Given the description of an element on the screen output the (x, y) to click on. 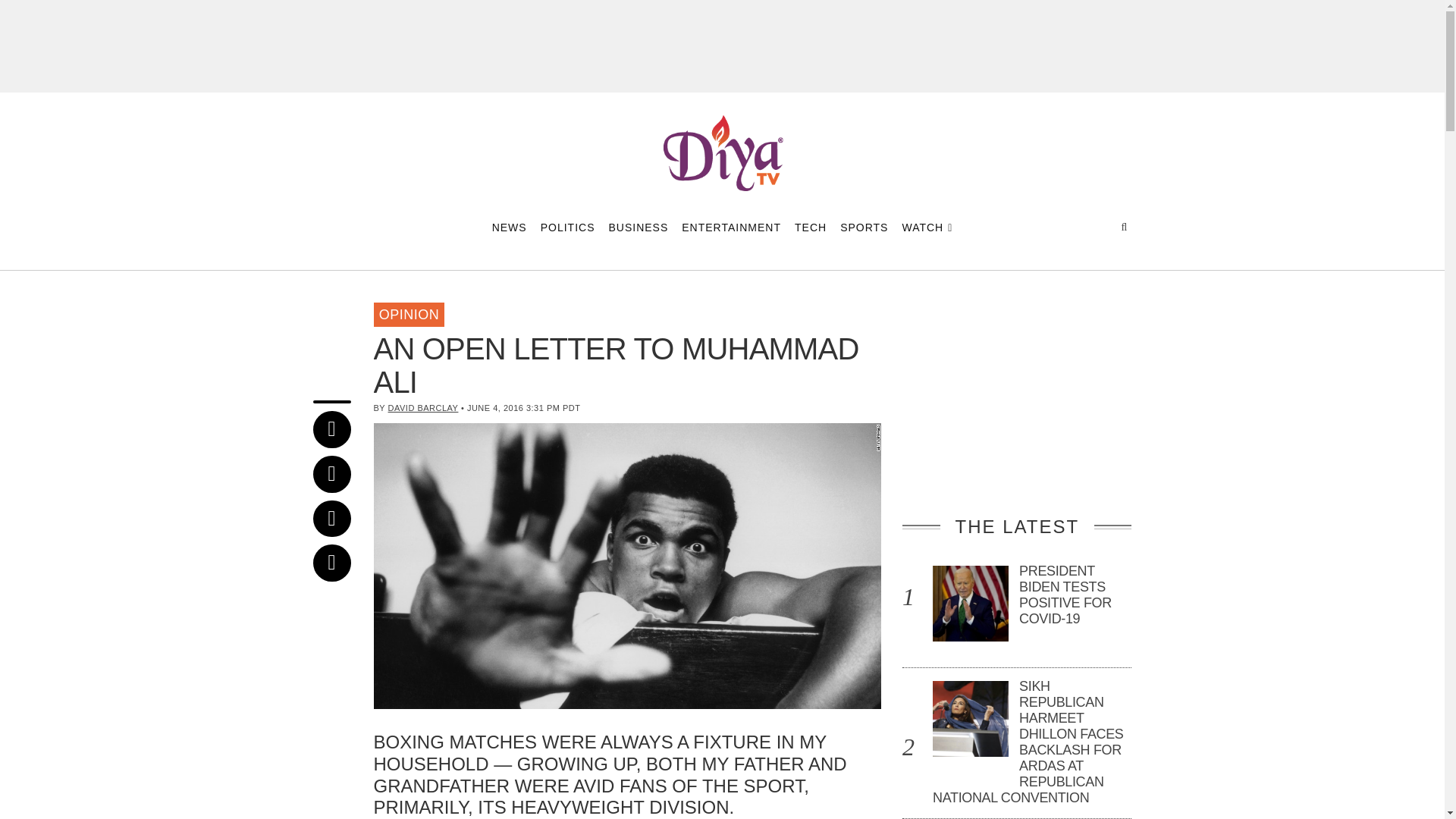
3rd party ad content (1016, 397)
June 4, 2016 (342, 302)
TECH (810, 227)
ENTERTAINMENT (730, 227)
DAVID BARCLAY (423, 407)
NEWS (509, 227)
BUSINESS (638, 227)
POLITICS (567, 227)
SPORTS (864, 227)
WATCH (926, 227)
3rd party ad content (722, 46)
OPINION (408, 314)
